Given the description of an element on the screen output the (x, y) to click on. 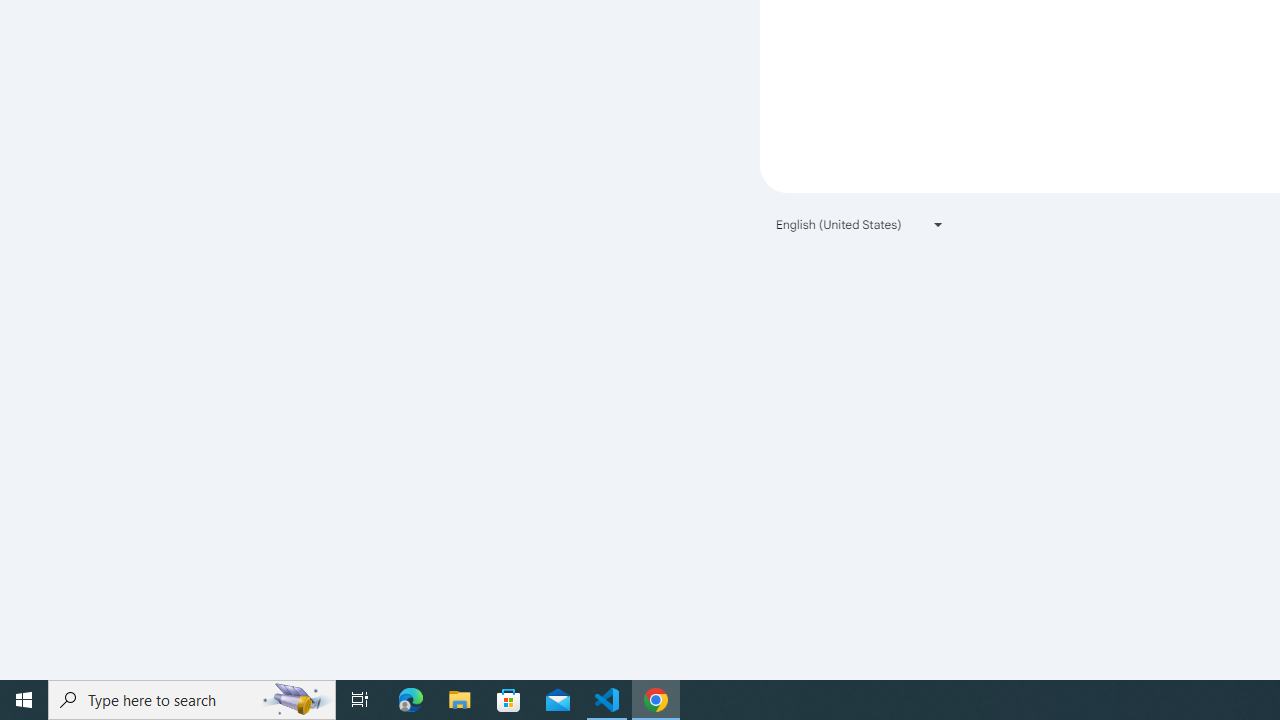
English (United States) (860, 224)
